Given the description of an element on the screen output the (x, y) to click on. 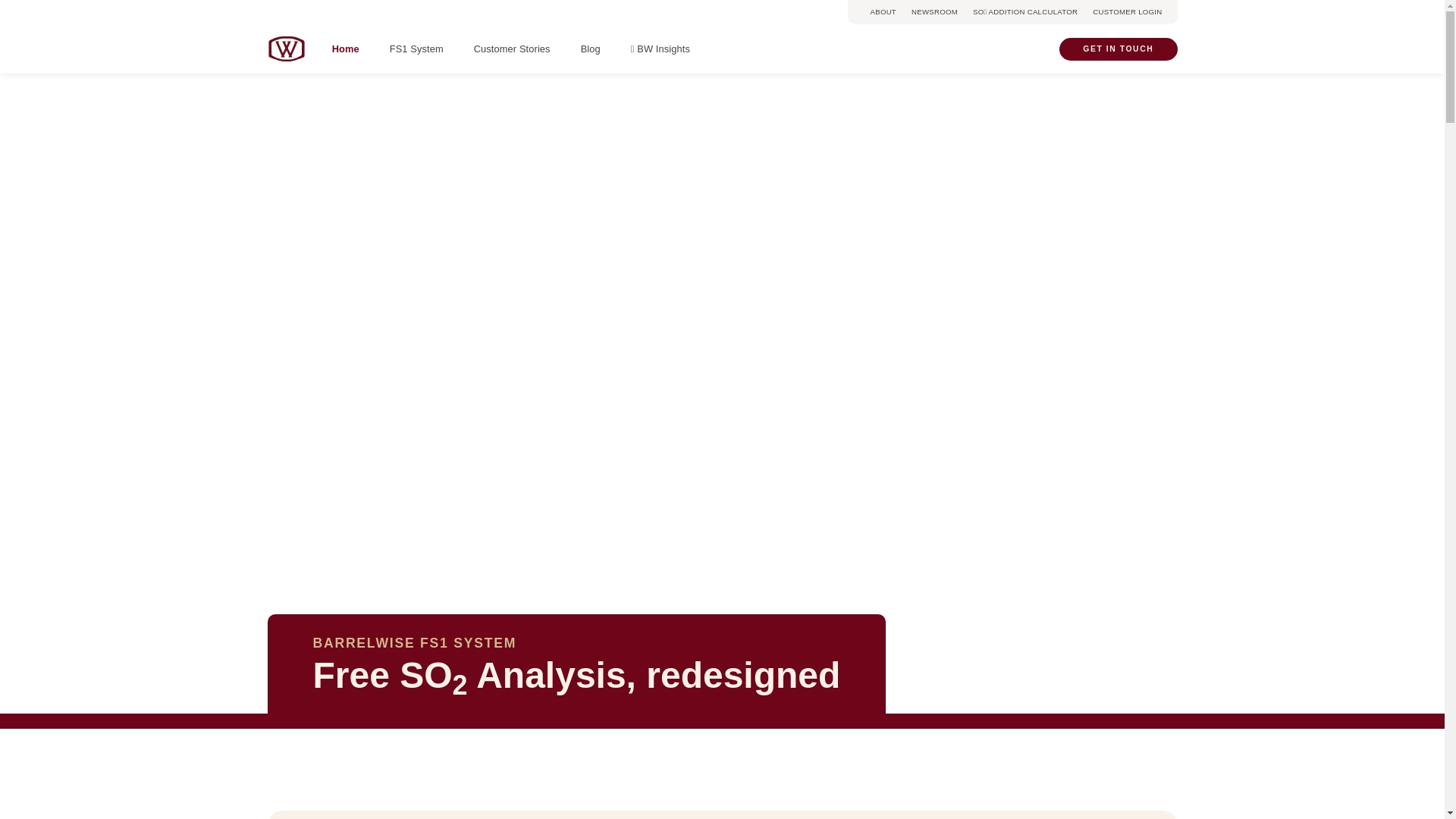
Customer Stories Element type: text (511, 49)
Home Element type: text (345, 48)
NEWSROOM Element type: text (934, 11)
GET IN TOUCH Element type: text (1117, 48)
ABOUT Element type: text (883, 11)
CUSTOMER LOGIN Element type: text (1126, 11)
FS1 System Element type: text (416, 49)
Blog Element type: text (590, 49)
